Given the description of an element on the screen output the (x, y) to click on. 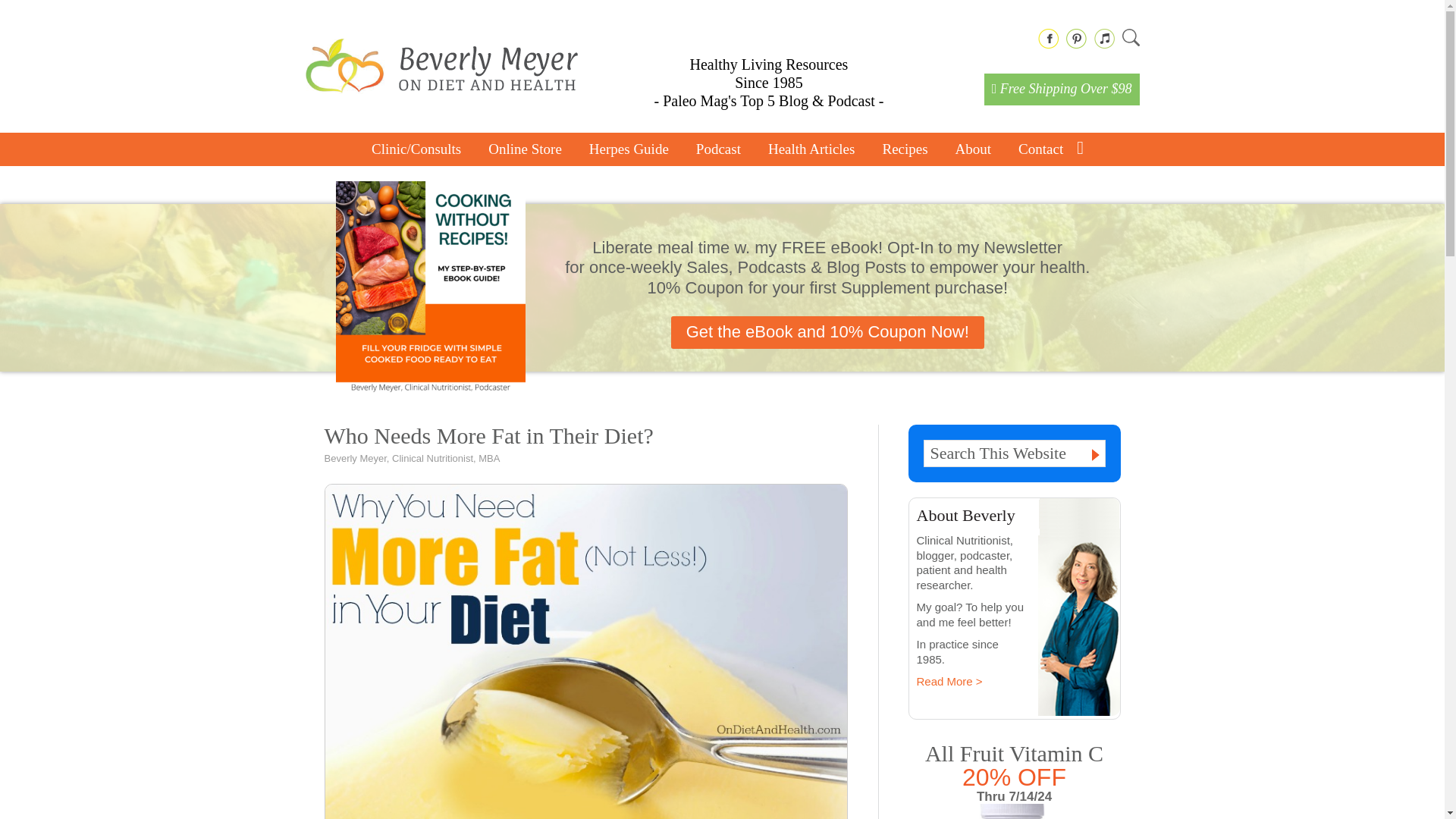
Gluten Free Paleo Recipes (903, 149)
Podcast (718, 149)
Contact (1033, 149)
Facebook (1047, 38)
Online Store (524, 149)
About Beverly Meyer (974, 149)
iTunes (1103, 38)
Gluten Free Paleo Health Topics (811, 149)
Recipes (903, 149)
iTunes (1103, 38)
Health Articles (811, 149)
Gluten Free Paleo Podcast (718, 149)
Facebook (1047, 38)
About (974, 149)
Pinterest (1075, 38)
